Given the description of an element on the screen output the (x, y) to click on. 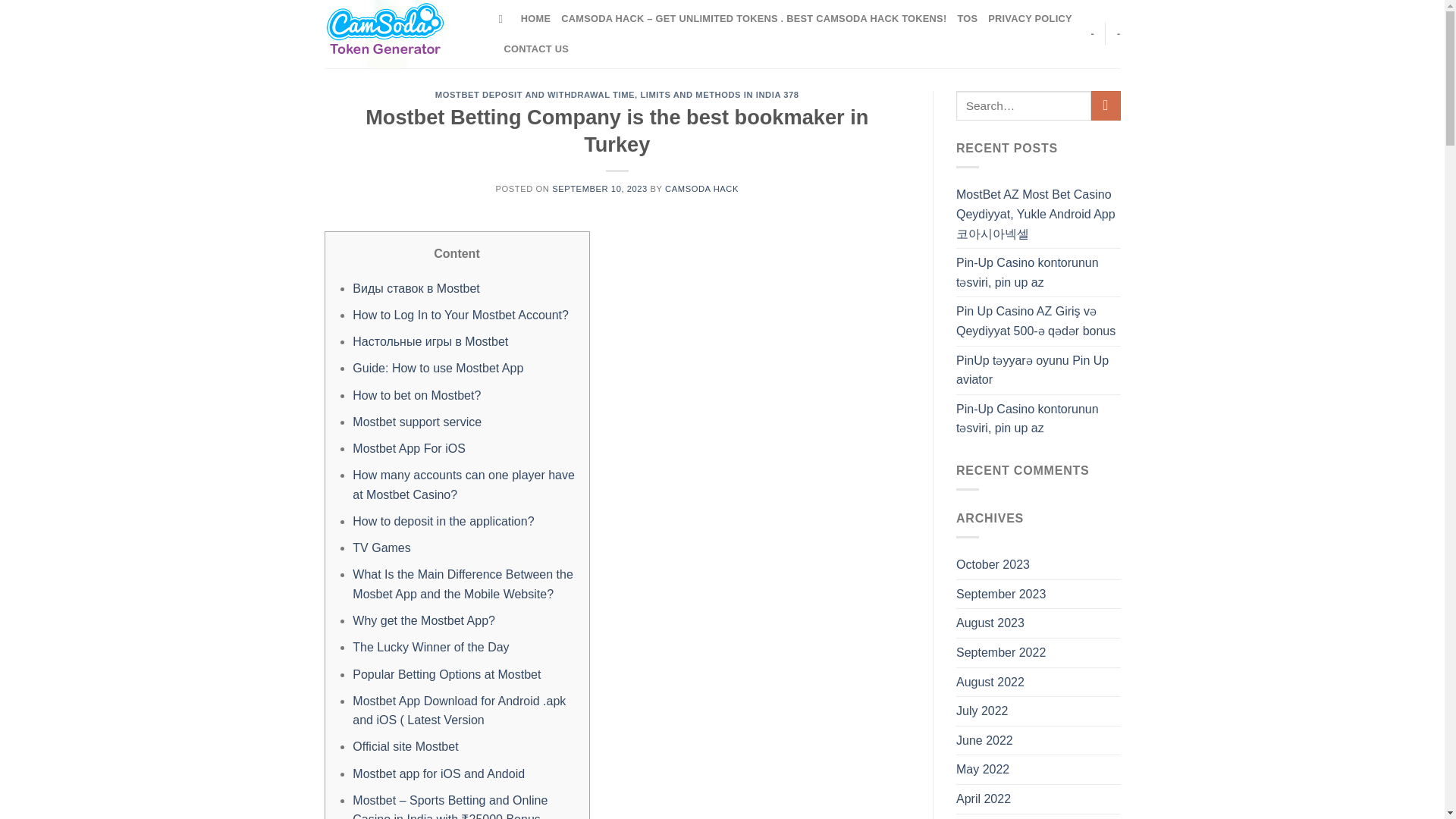
How to deposit in the application? (443, 521)
How many accounts can one player have at Mostbet Casino? (463, 484)
PRIVACY POLICY (1029, 19)
Mostbet support service (416, 421)
HOME (535, 19)
Official site Mostbet (405, 746)
Mostbet App For iOS (408, 448)
Why get the Mostbet App? (423, 620)
SEPTEMBER 10, 2023 (599, 188)
Guide: How to use Mostbet App (437, 367)
CAMSODA HACK (701, 188)
Mostbet app for iOS and Andoid (438, 773)
How to bet on Mostbet? (416, 395)
